Given the description of an element on the screen output the (x, y) to click on. 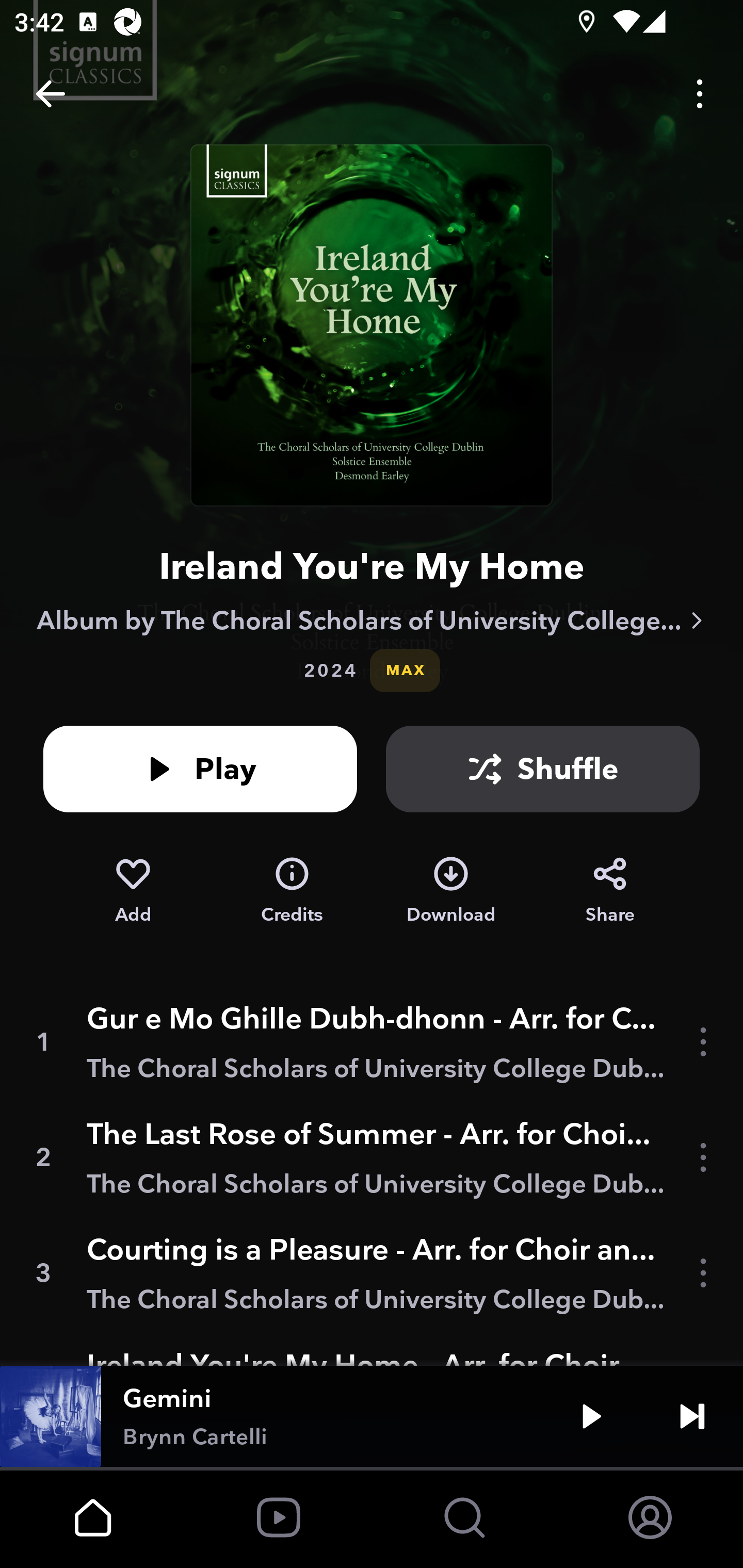
Options (699, 93)
Ireland You're My Home (371, 565)
Play (200, 768)
Shuffle (542, 768)
Add to My Collection Add (132, 890)
Credits (291, 890)
Download (450, 890)
Share (609, 890)
Gemini Brynn Cartelli Play (371, 1416)
Play (590, 1416)
